Given the description of an element on the screen output the (x, y) to click on. 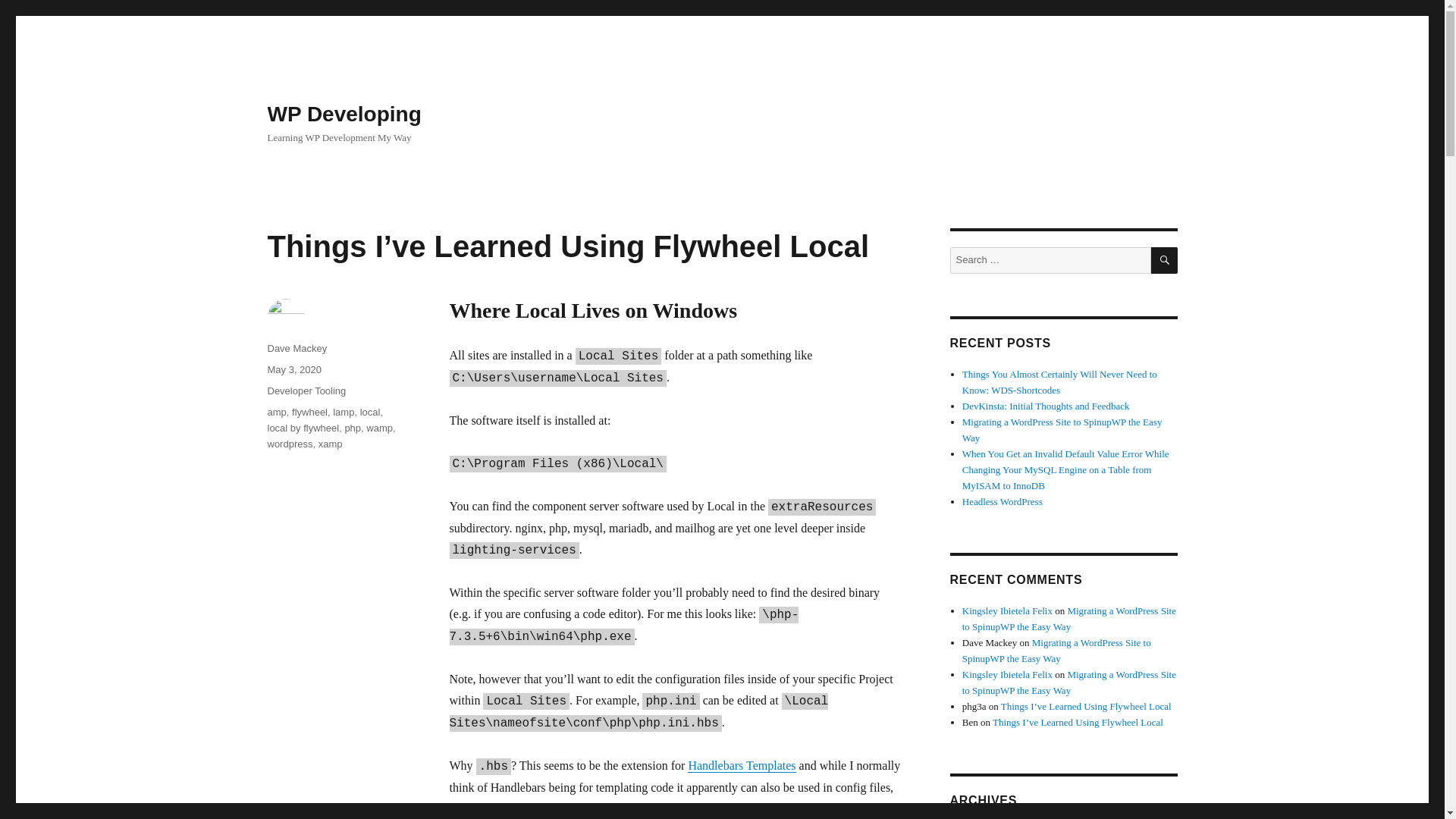
Developer Tooling (306, 390)
local by flywheel (302, 428)
WP Developing (343, 114)
May 3, 2020 (293, 369)
local (369, 411)
wamp (379, 428)
flywheel (309, 411)
php (352, 428)
wordpress (289, 443)
lamp (343, 411)
